Given the description of an element on the screen output the (x, y) to click on. 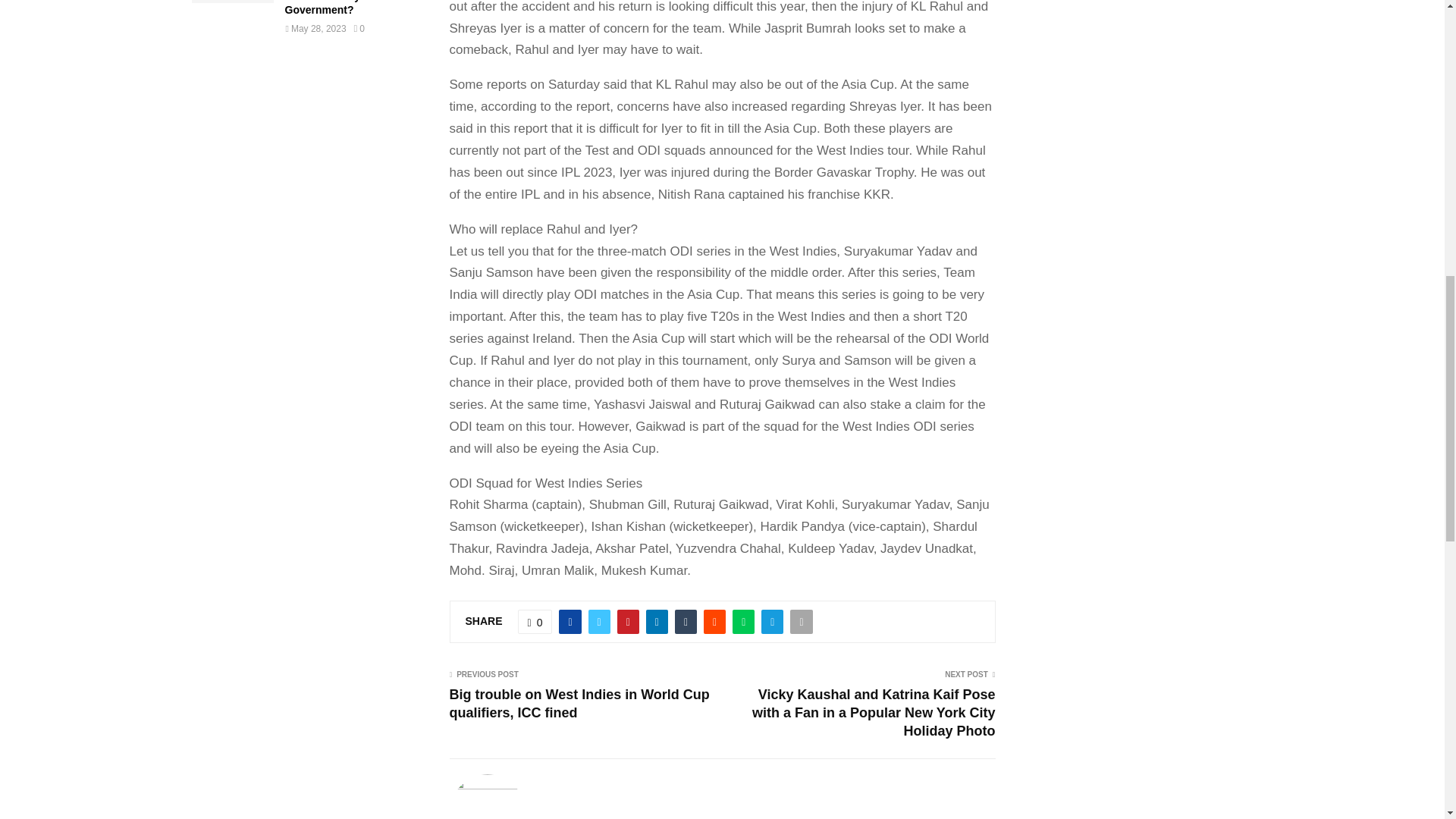
Like (535, 621)
